Given the description of an element on the screen output the (x, y) to click on. 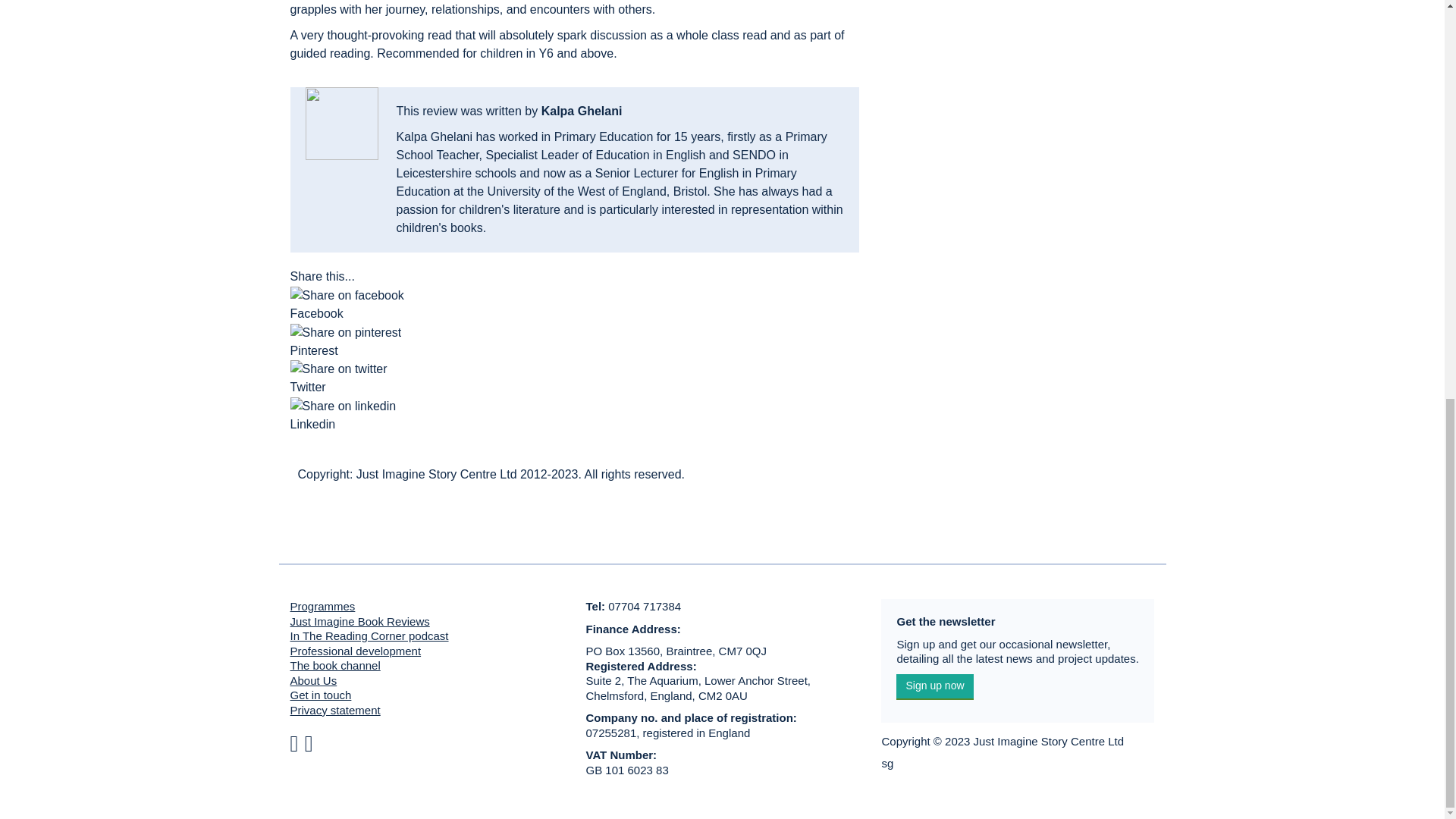
Facebook (574, 313)
The book channel (334, 665)
Programmes (322, 605)
pinterest (345, 332)
About Us (312, 680)
Facebook (574, 313)
twitter (338, 369)
Pinterest (574, 351)
In The Reading Corner podcast (368, 635)
Twitter (574, 387)
linkedin (342, 406)
Professional development (354, 650)
Linkedin (574, 416)
Pinterest (574, 350)
Just Imagine Book Reviews (359, 621)
